Given the description of an element on the screen output the (x, y) to click on. 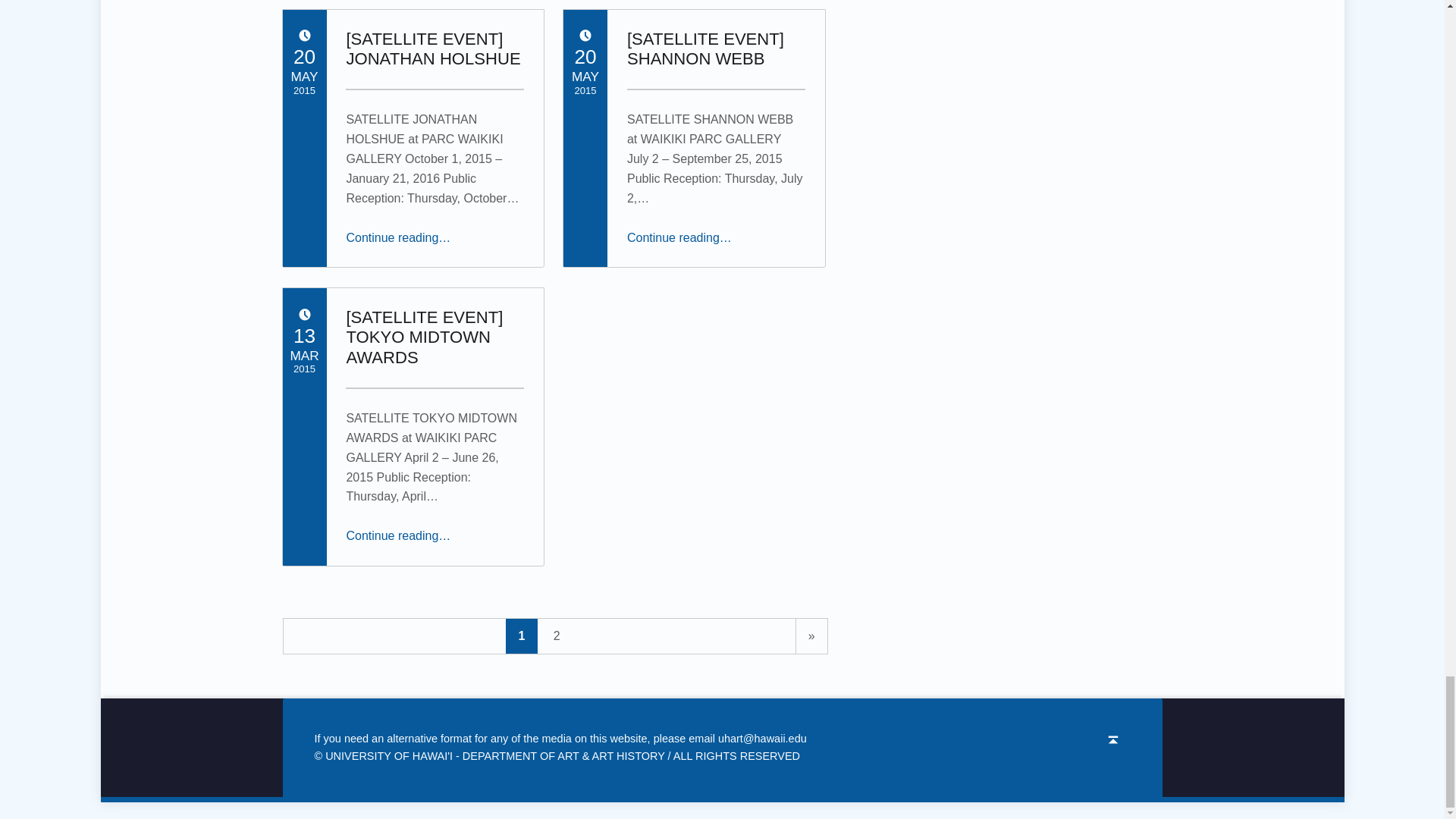
Back to top (1113, 740)
